Given the description of an element on the screen output the (x, y) to click on. 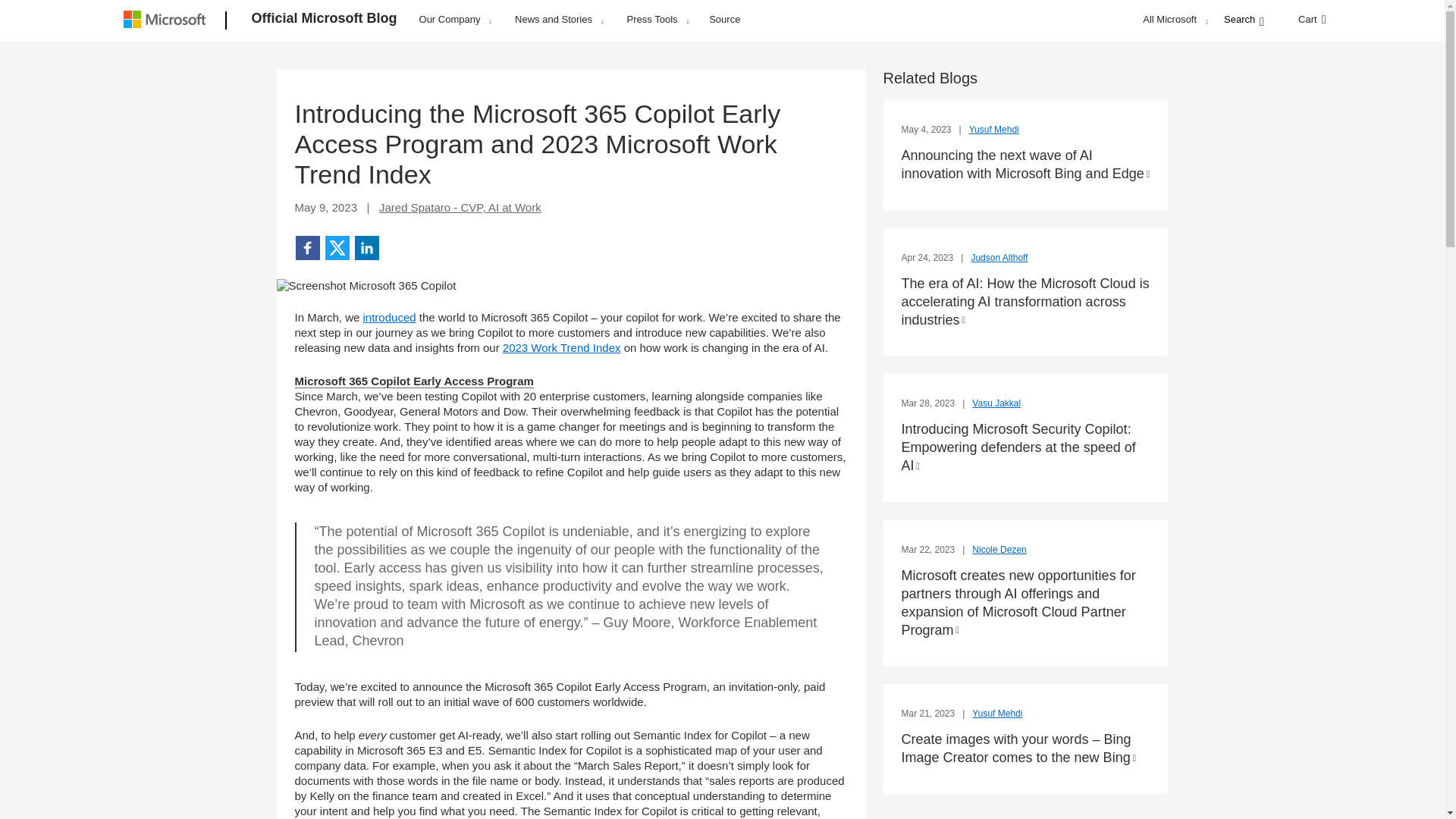
March 28, 2023 (928, 403)
News and Stories (558, 18)
Official Microsoft Blog (324, 20)
April 24, 2023 (928, 257)
May 9, 2023 (325, 206)
March 22, 2023 (928, 549)
March 21, 2023 (928, 713)
Microsoft (167, 20)
May 4, 2023 (927, 129)
Our Company (454, 18)
